Given the description of an element on the screen output the (x, y) to click on. 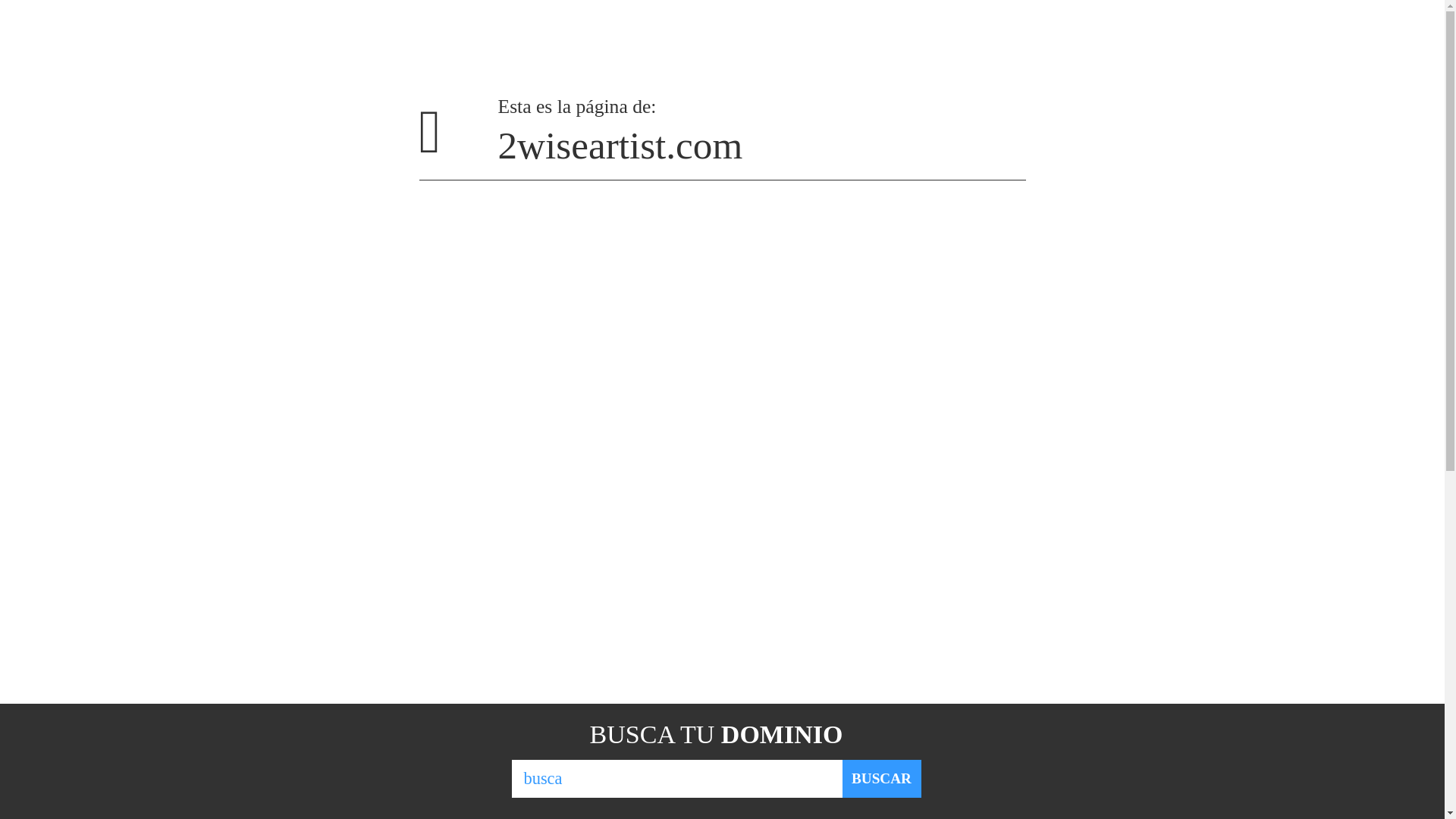
BUSCAR Element type: text (880, 778)
